Given the description of an element on the screen output the (x, y) to click on. 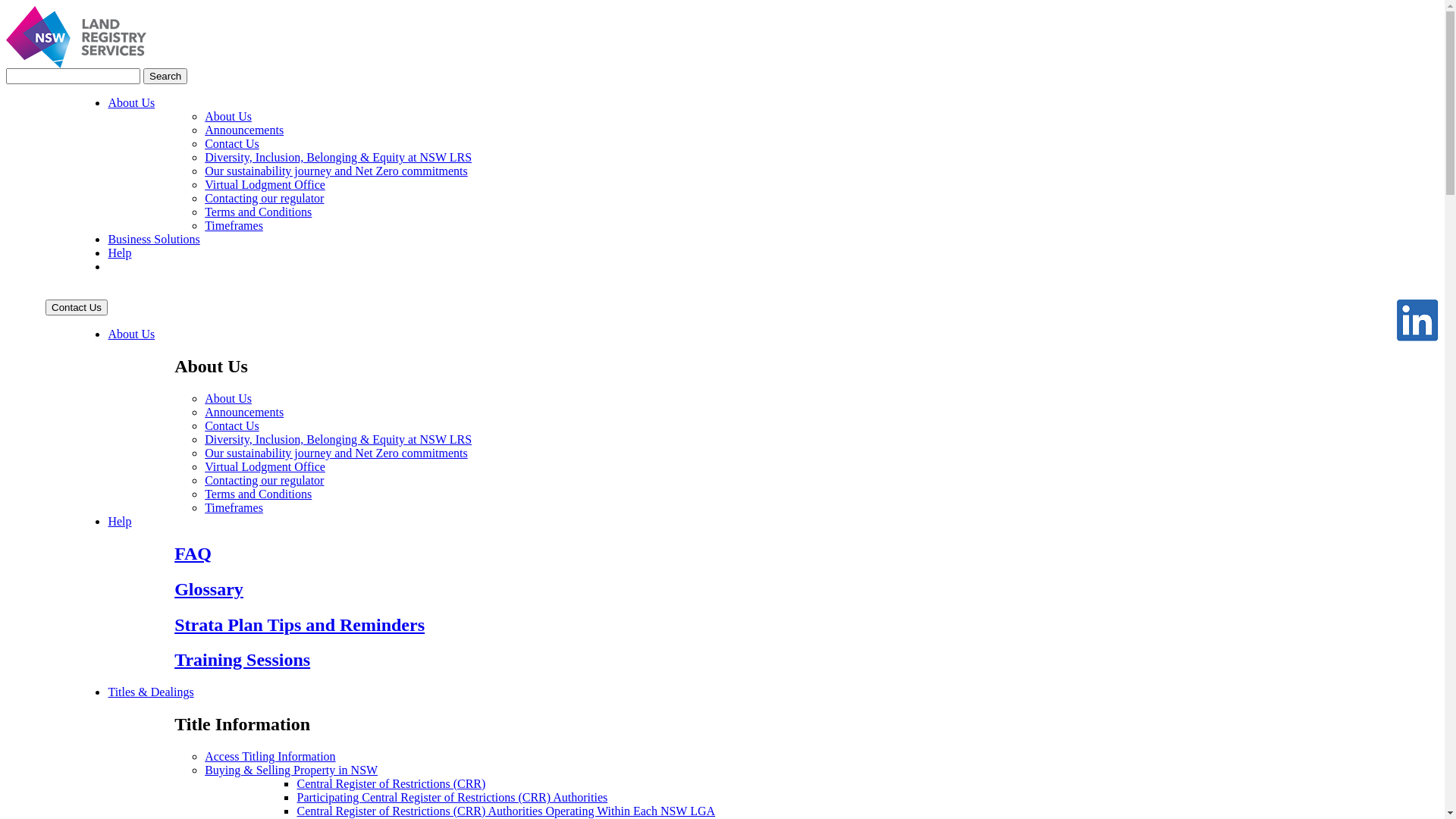
Contact Us Element type: text (231, 425)
Glossary Element type: text (208, 589)
Strata Plan Tips and Reminders Element type: text (299, 624)
About Us Element type: text (227, 398)
About Us Element type: text (130, 333)
Our sustainability journey and Net Zero commitments Element type: text (335, 452)
Titles & Dealings Element type: text (150, 691)
Terms and Conditions Element type: text (257, 493)
Contacting our regulator Element type: text (263, 479)
Virtual Lodgment Office Element type: text (264, 466)
Contact Us Element type: text (231, 143)
Access Titling Information Element type: text (269, 755)
Help Element type: text (119, 252)
Virtual Lodgment Office Element type: text (264, 184)
Diversity, Inclusion, Belonging & Equity at NSW LRS Element type: text (337, 439)
Contact Us Element type: text (76, 307)
FAQ Element type: text (192, 553)
Buying & Selling Property in NSW Element type: text (290, 769)
Training Sessions Element type: text (242, 659)
Announcements Element type: text (243, 411)
Central Register of Restrictions (CRR) Element type: text (390, 783)
Help Element type: text (119, 520)
Our sustainability journey and Net Zero commitments Element type: text (335, 170)
Diversity, Inclusion, Belonging & Equity at NSW LRS Element type: text (337, 156)
Search Element type: text (165, 76)
Business Solutions Element type: text (153, 238)
Terms and Conditions Element type: text (257, 211)
Timeframes Element type: text (233, 225)
About Us Element type: text (227, 115)
Announcements Element type: text (243, 129)
About Us Element type: text (130, 102)
Contacting our regulator Element type: text (263, 197)
Timeframes Element type: text (233, 507)
